Given the description of an element on the screen output the (x, y) to click on. 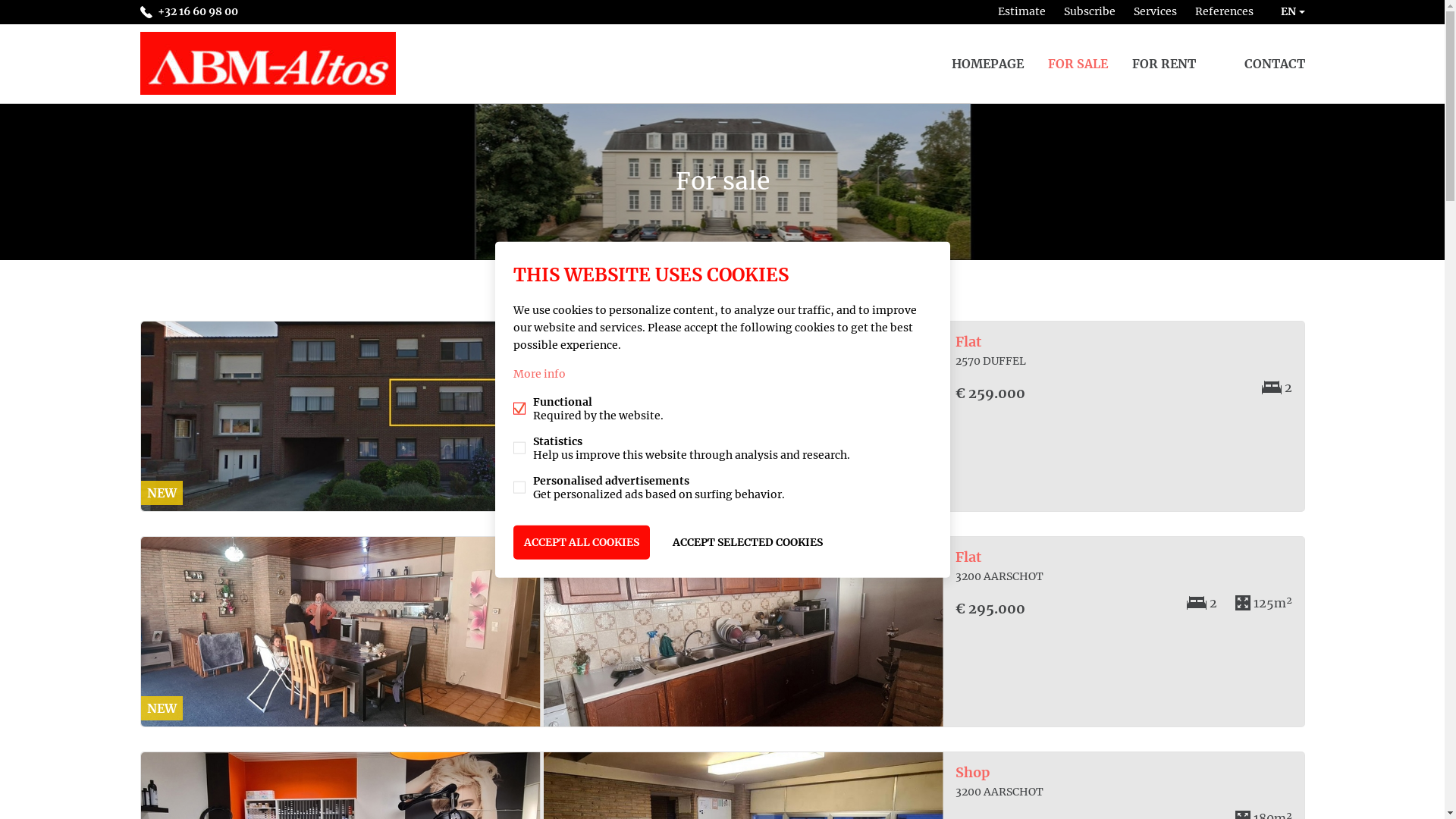
CONTACT Element type: text (1273, 63)
+32 16 60 98 00 Element type: text (188, 12)
FOR SALE Element type: text (1077, 63)
ACCEPT ALL COOKIES Element type: text (580, 542)
HOMEPAGE Element type: text (986, 63)
Estimate Element type: text (1021, 12)
References Element type: text (1224, 12)
Subscribe Element type: text (1088, 12)
ACCEPT SELECTED COOKIES Element type: text (746, 542)
Services Element type: text (1154, 12)
More info Element type: text (538, 373)
FOR RENT Element type: text (1163, 63)
